Given the description of an element on the screen output the (x, y) to click on. 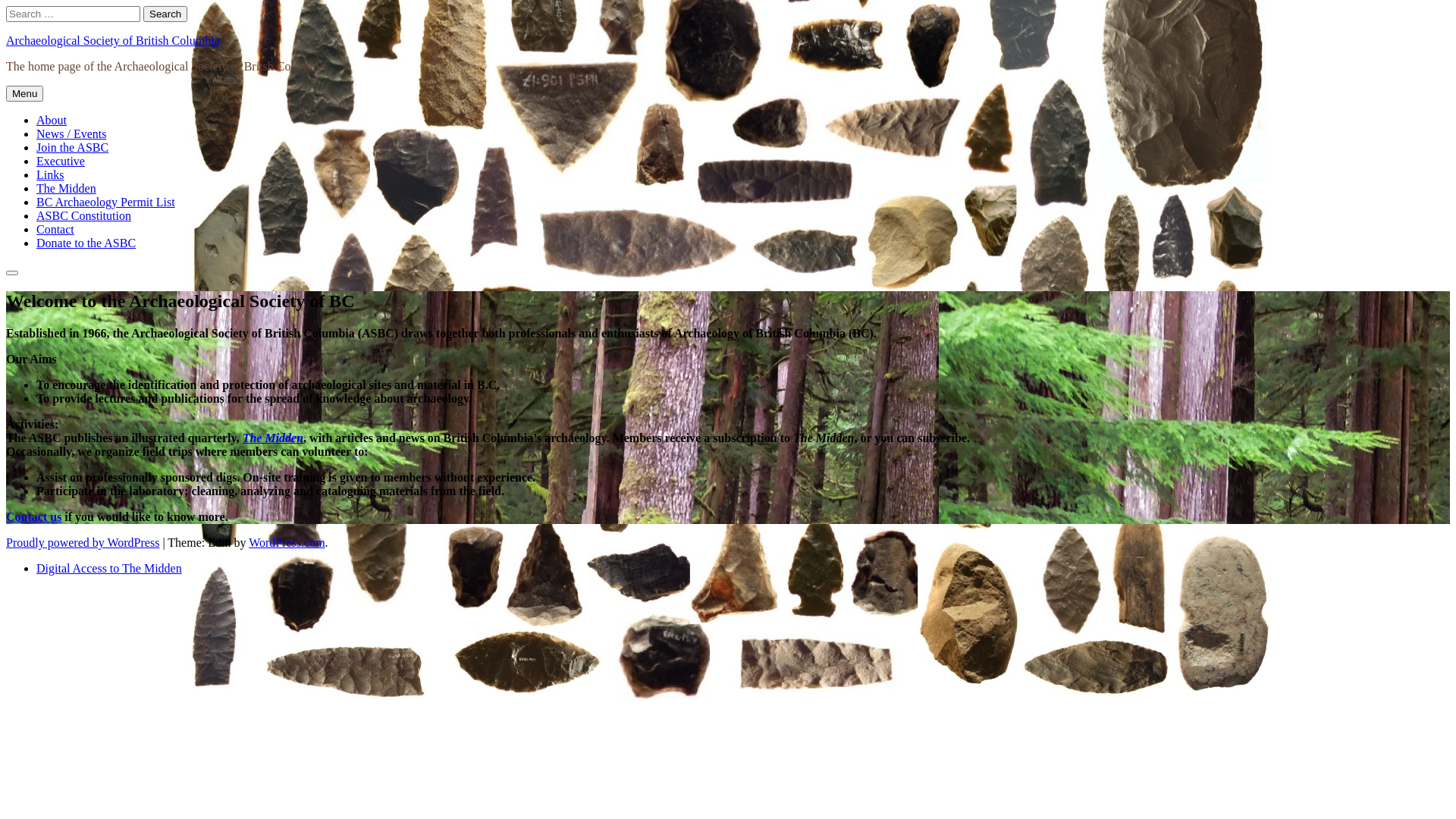
Skip to content Element type: text (5, 5)
Proudly powered by WordPress Element type: text (82, 542)
The Midden Element type: text (66, 188)
Search Element type: text (165, 13)
About Element type: text (51, 119)
News / Events Element type: text (71, 133)
BC Archaeology Permit List Element type: text (105, 201)
Donate to the ASBC Element type: text (85, 242)
Menu Element type: text (24, 93)
Join the ASBC Element type: text (72, 147)
Search Element type: text (12, 272)
ASBC Constitution Element type: text (83, 215)
WordPress.com Element type: text (286, 542)
Archaeological Society of British Columbia Element type: text (112, 40)
Contact Element type: text (55, 228)
The Midden Element type: text (272, 437)
Contact us Element type: text (33, 516)
Links Element type: text (49, 174)
Digital Access to The Midden Element type: text (109, 567)
Executive Element type: text (60, 160)
